Given the description of an element on the screen output the (x, y) to click on. 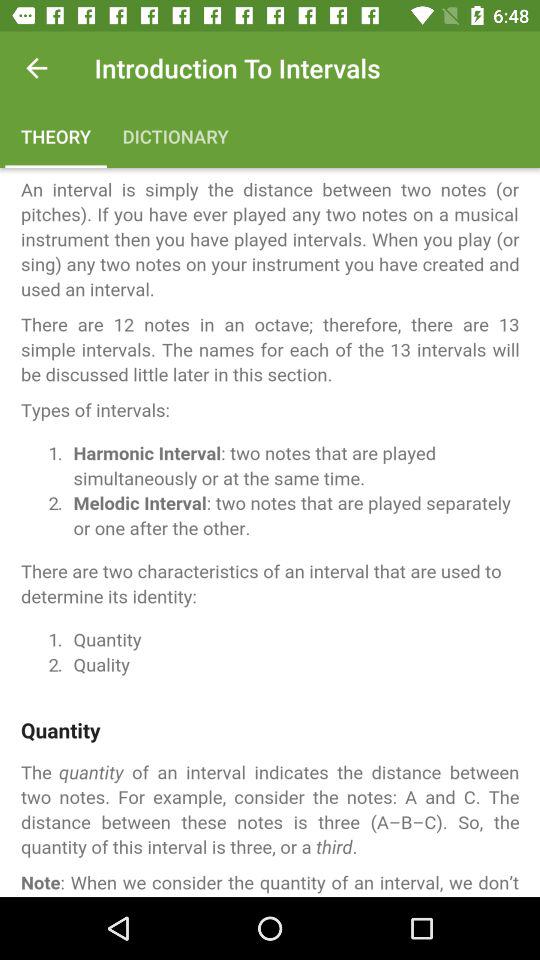
file (270, 532)
